Given the description of an element on the screen output the (x, y) to click on. 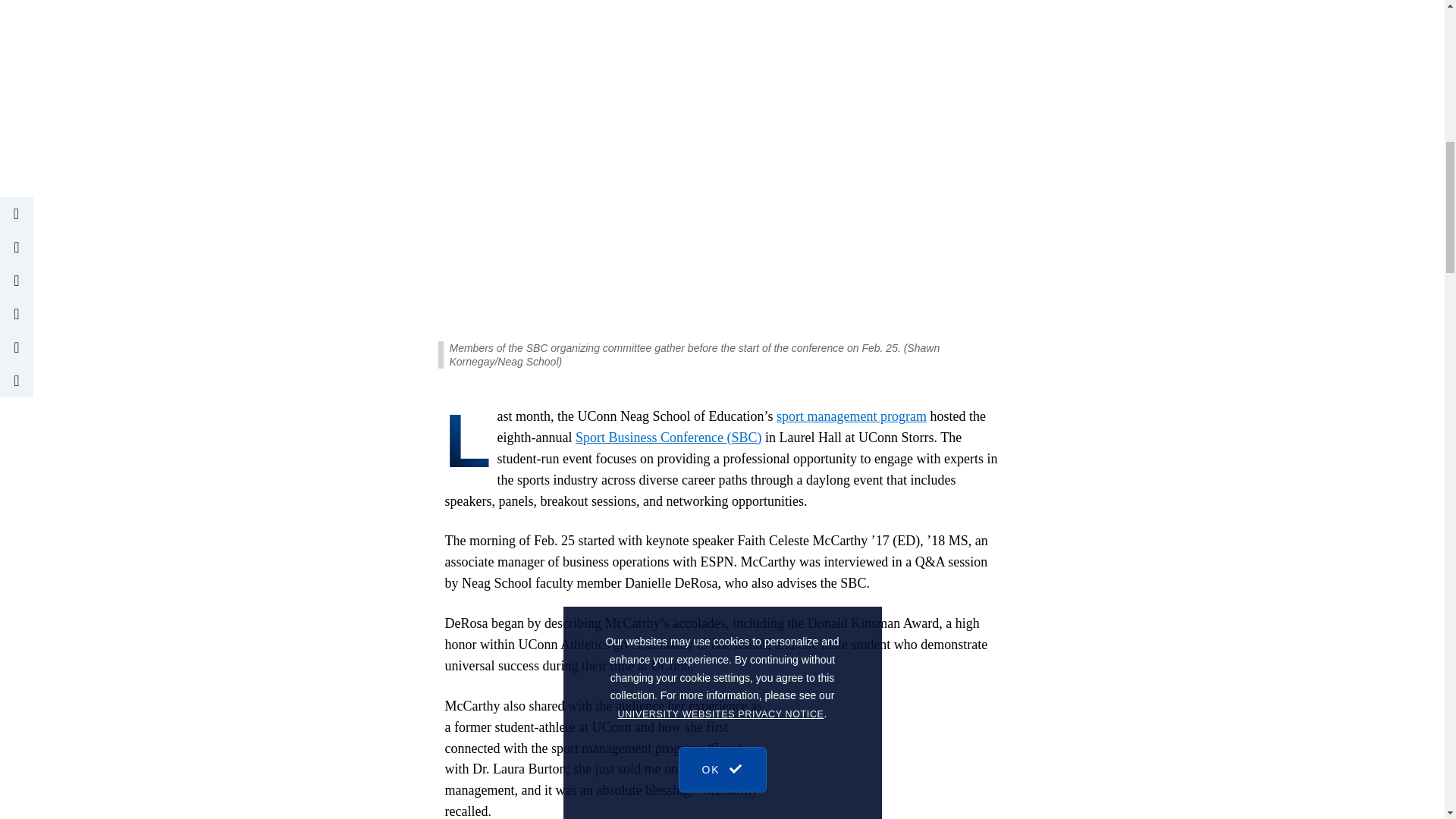
UNIVERSITY WEBSITES PRIVACY NOTICE (720, 82)
OK (721, 115)
sport management program (851, 416)
